Given the description of an element on the screen output the (x, y) to click on. 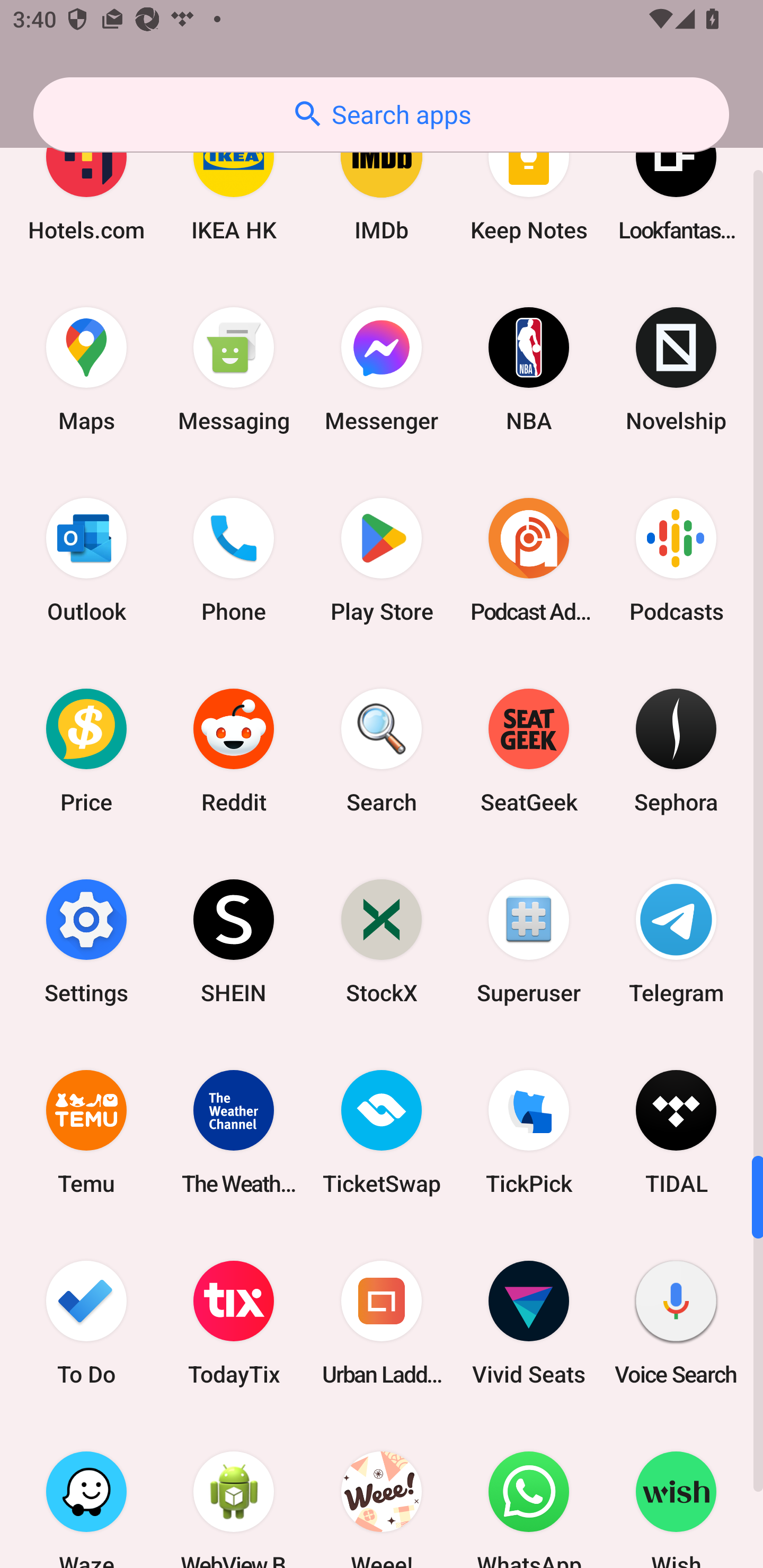
To Do (86, 1322)
